Given the description of an element on the screen output the (x, y) to click on. 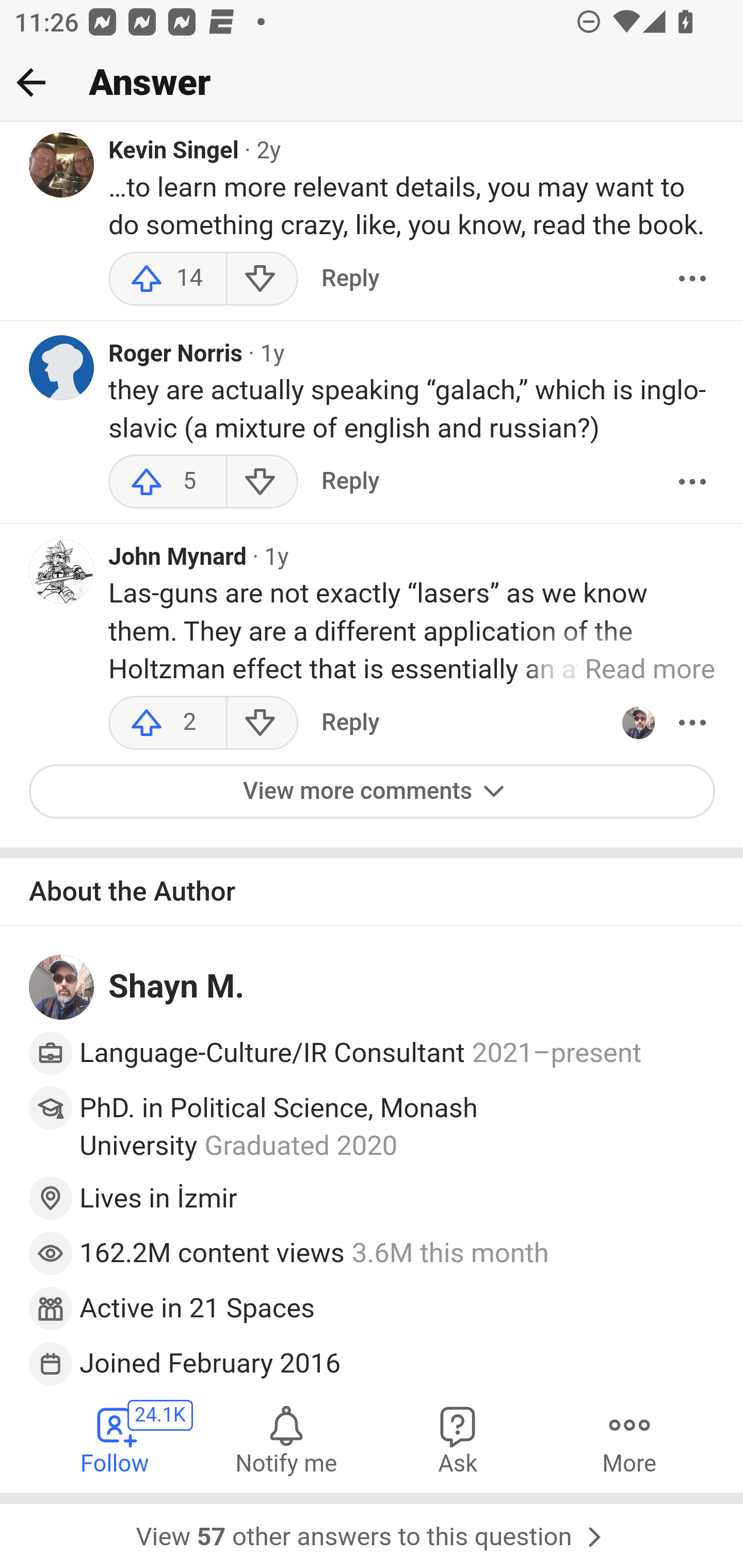
Back (30, 82)
Profile photo for Kevin Singel (61, 166)
Kevin Singel (173, 152)
14 upvotes (167, 279)
Downvote (261, 279)
Reply (350, 279)
More (691, 279)
Profile photo for Roger Norris (61, 368)
Roger Norris (175, 355)
5 upvotes (167, 482)
Downvote (261, 482)
Reply (350, 482)
More (691, 482)
Profile photo for John Mynard (61, 571)
John Mynard (177, 558)
2 upvotes (167, 723)
Downvote (261, 723)
Reply (350, 723)
Profile photo for Shayn M. (638, 723)
More (691, 723)
View more comments (372, 792)
Profile photo for Shayn M. (61, 987)
Shayn M. (176, 987)
Follow Shayn M. 24.1K Follow (115, 1440)
Notify me (285, 1440)
Ask (458, 1440)
More (628, 1440)
View 57 other answers to this question (371, 1531)
